Given the description of an element on the screen output the (x, y) to click on. 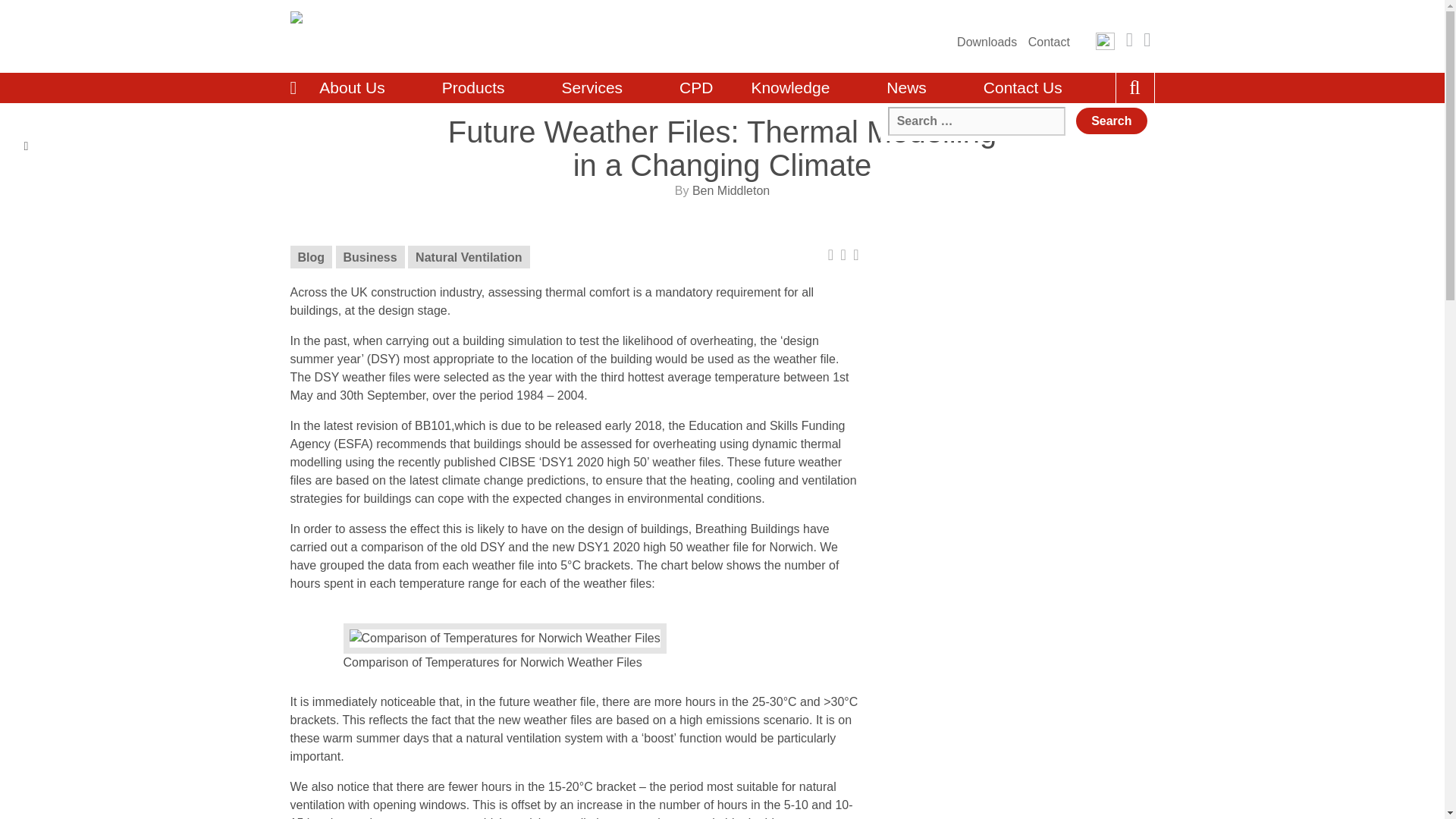
Breathing Buildings (384, 36)
Products (482, 87)
Services (602, 87)
Downloads (986, 42)
Contact (1048, 42)
About Us (361, 87)
